Given the description of an element on the screen output the (x, y) to click on. 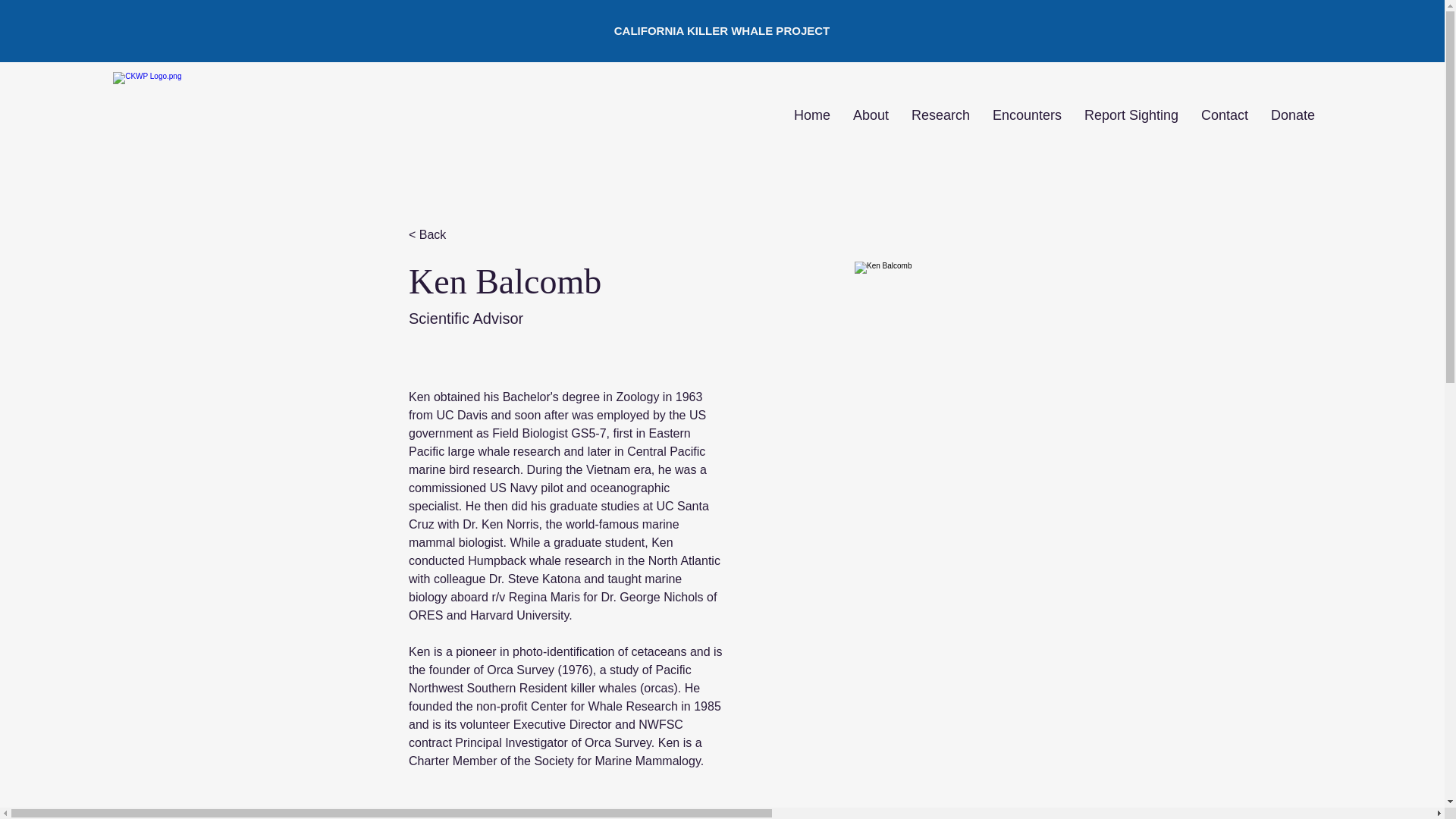
About (870, 114)
Report Sighting (1131, 114)
Contact (1224, 114)
Donate (1292, 114)
Ken.png (1002, 409)
Encounters (1027, 114)
Research (940, 114)
Home (812, 114)
